Given the description of an element on the screen output the (x, y) to click on. 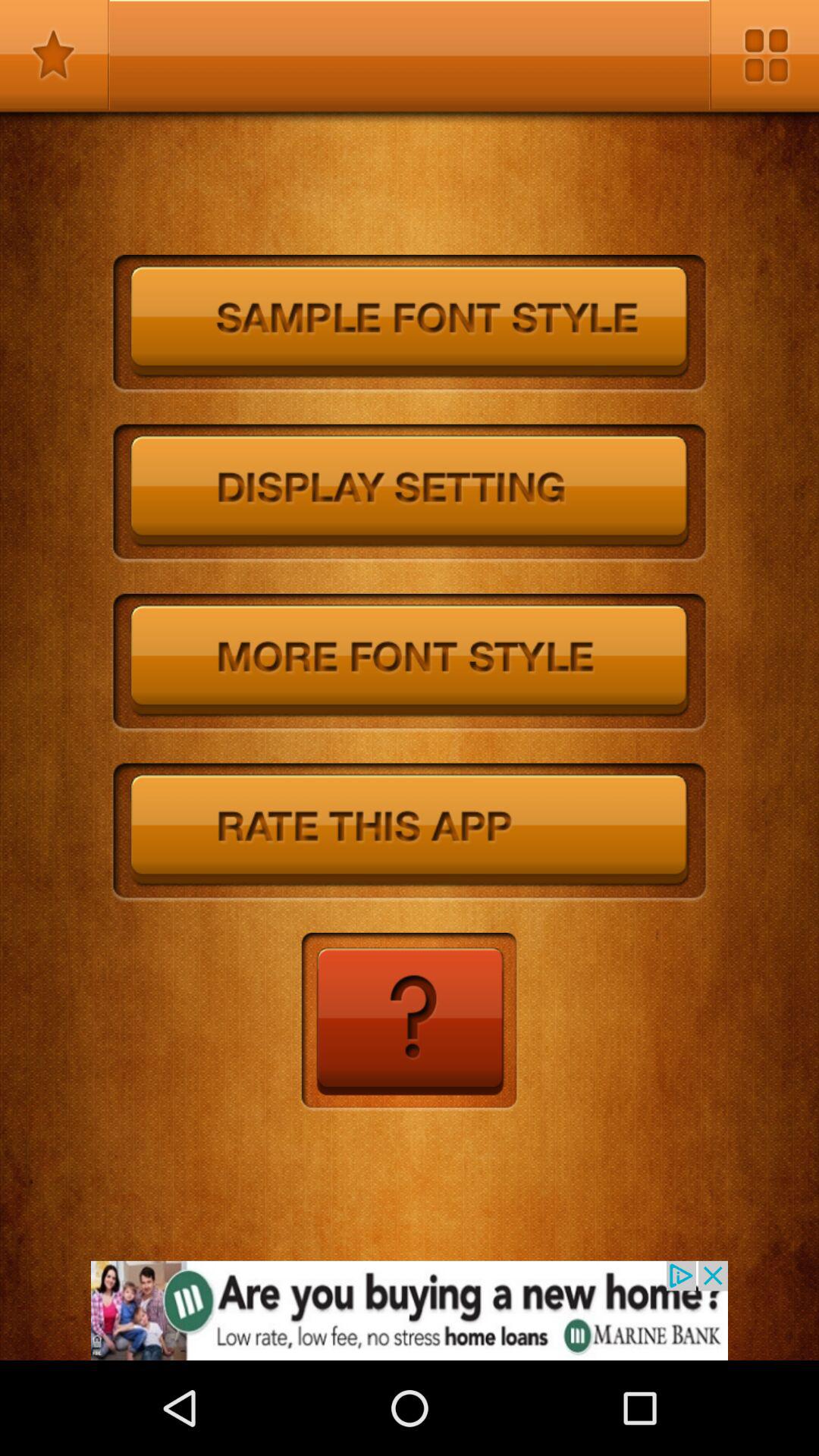
ask question (408, 1021)
